Given the description of an element on the screen output the (x, y) to click on. 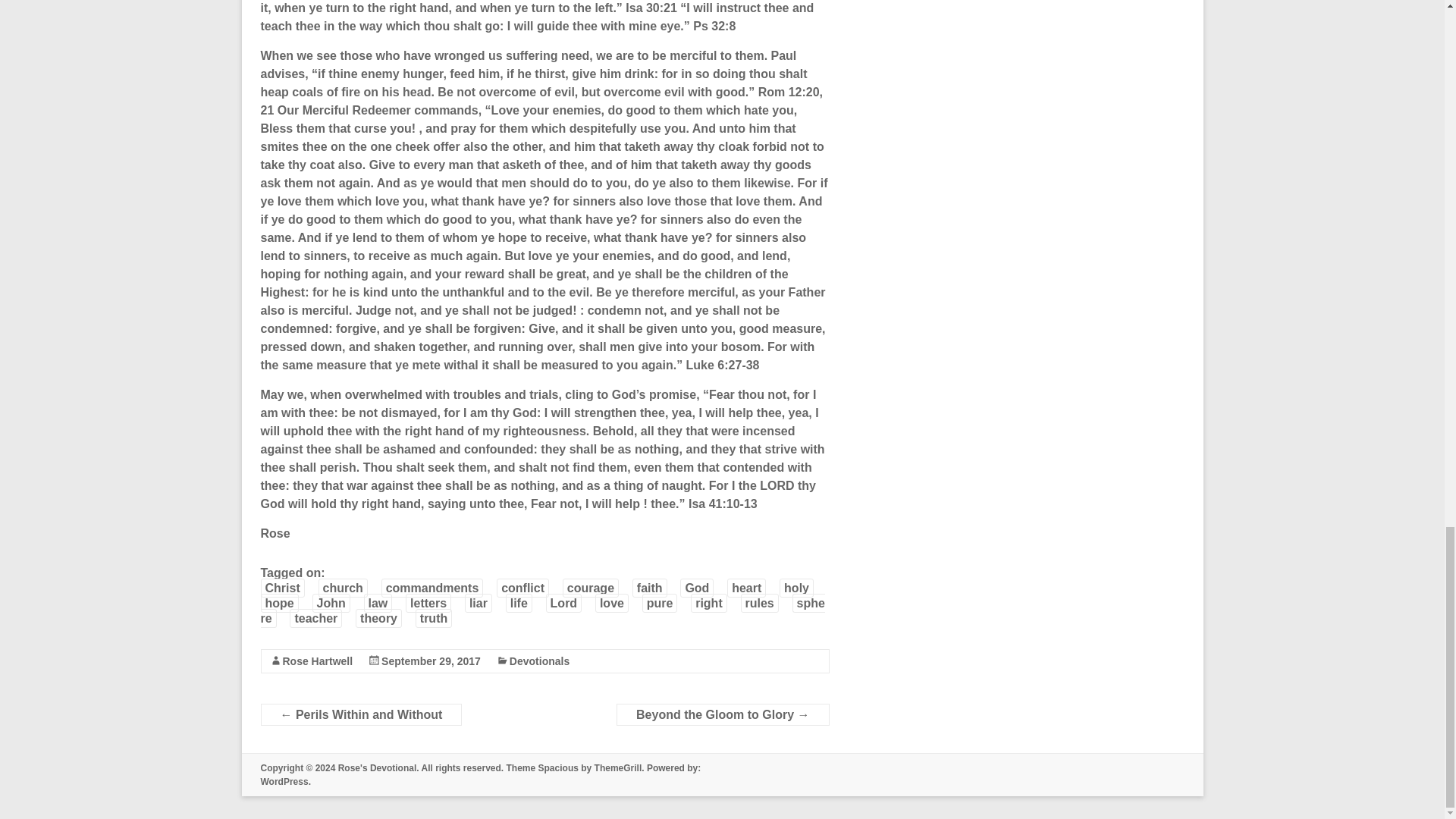
letters (428, 602)
Devotionals (539, 661)
pure (660, 602)
sphere (542, 610)
theory (378, 618)
God (696, 587)
John (331, 602)
hope (279, 602)
holy (795, 587)
love (611, 602)
Christ (282, 587)
Rose's Devotional (376, 767)
church (343, 587)
courage (590, 587)
8:39 am (430, 661)
